Given the description of an element on the screen output the (x, y) to click on. 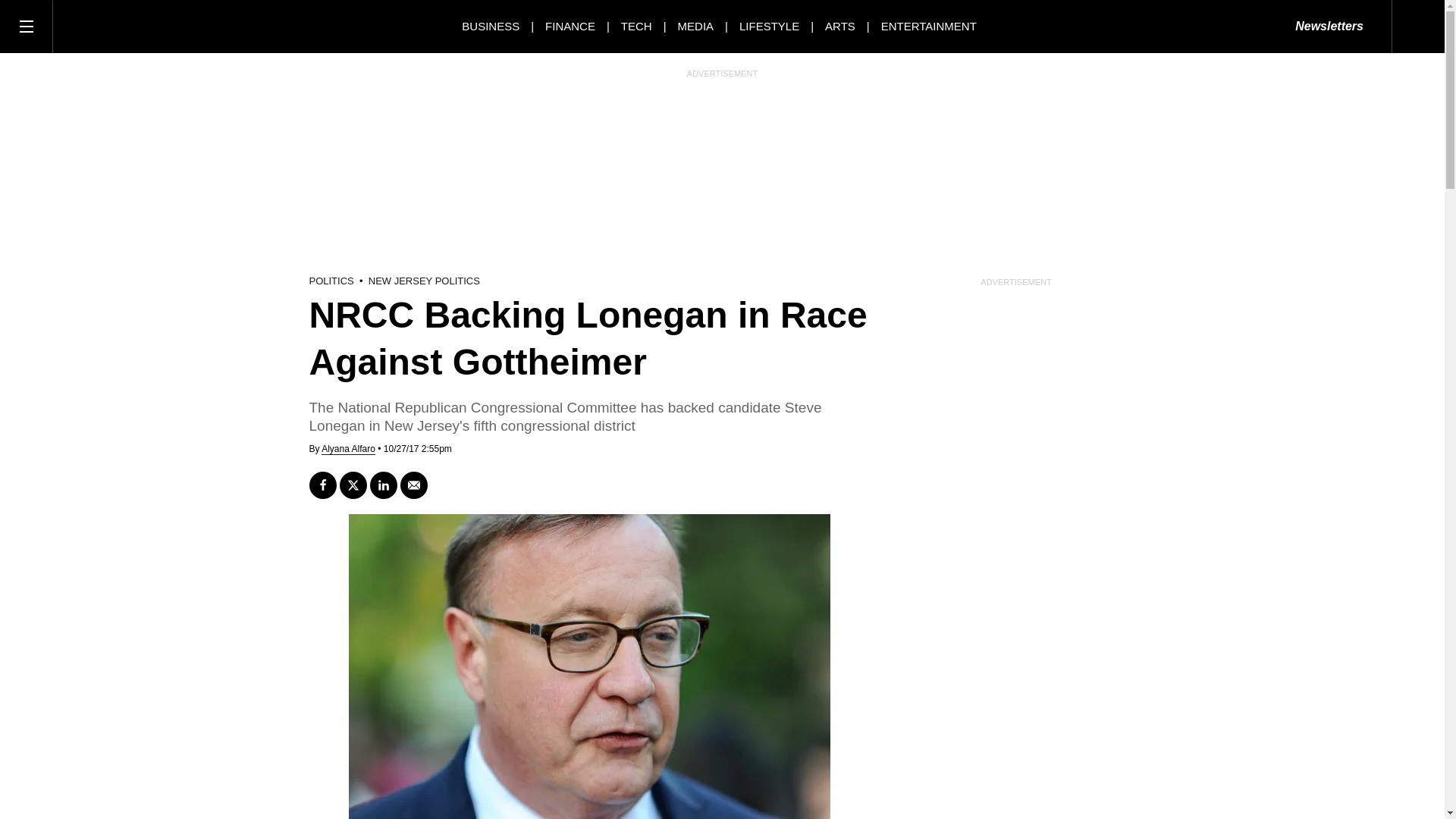
View All Posts by Alyana Alfaro (348, 449)
ARTS (840, 25)
Newsletters (1329, 26)
Observer (121, 26)
MEDIA (696, 25)
Send email (414, 484)
FINANCE (569, 25)
LIFESTYLE (769, 25)
Tweet (352, 484)
BUSINESS (490, 25)
